Given the description of an element on the screen output the (x, y) to click on. 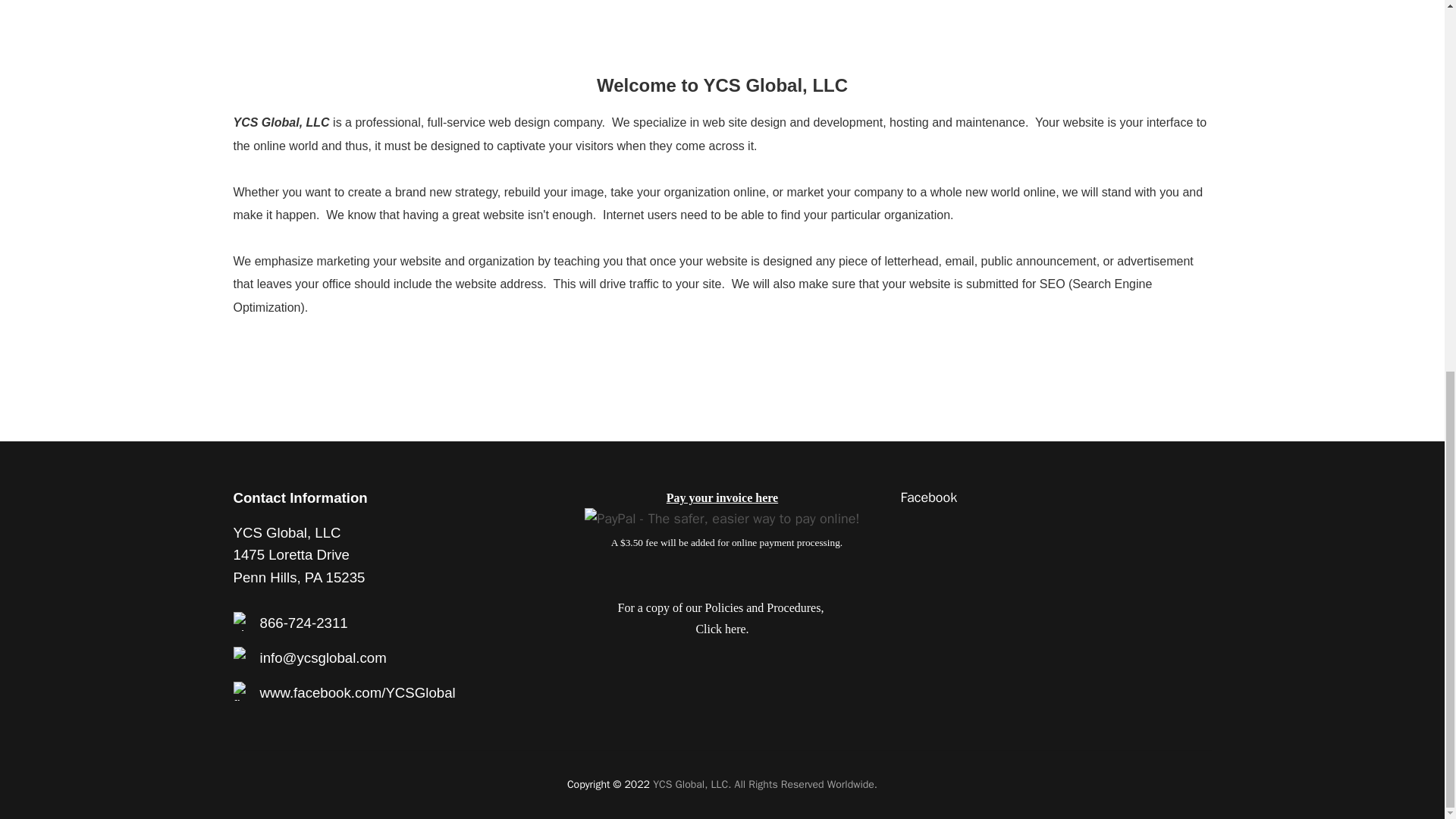
Facebook (927, 497)
YCS Global, LLC (764, 784)
Click here (720, 628)
YCS Global, LLC. All Rights Reserved Worldwide. (764, 784)
